Given the description of an element on the screen output the (x, y) to click on. 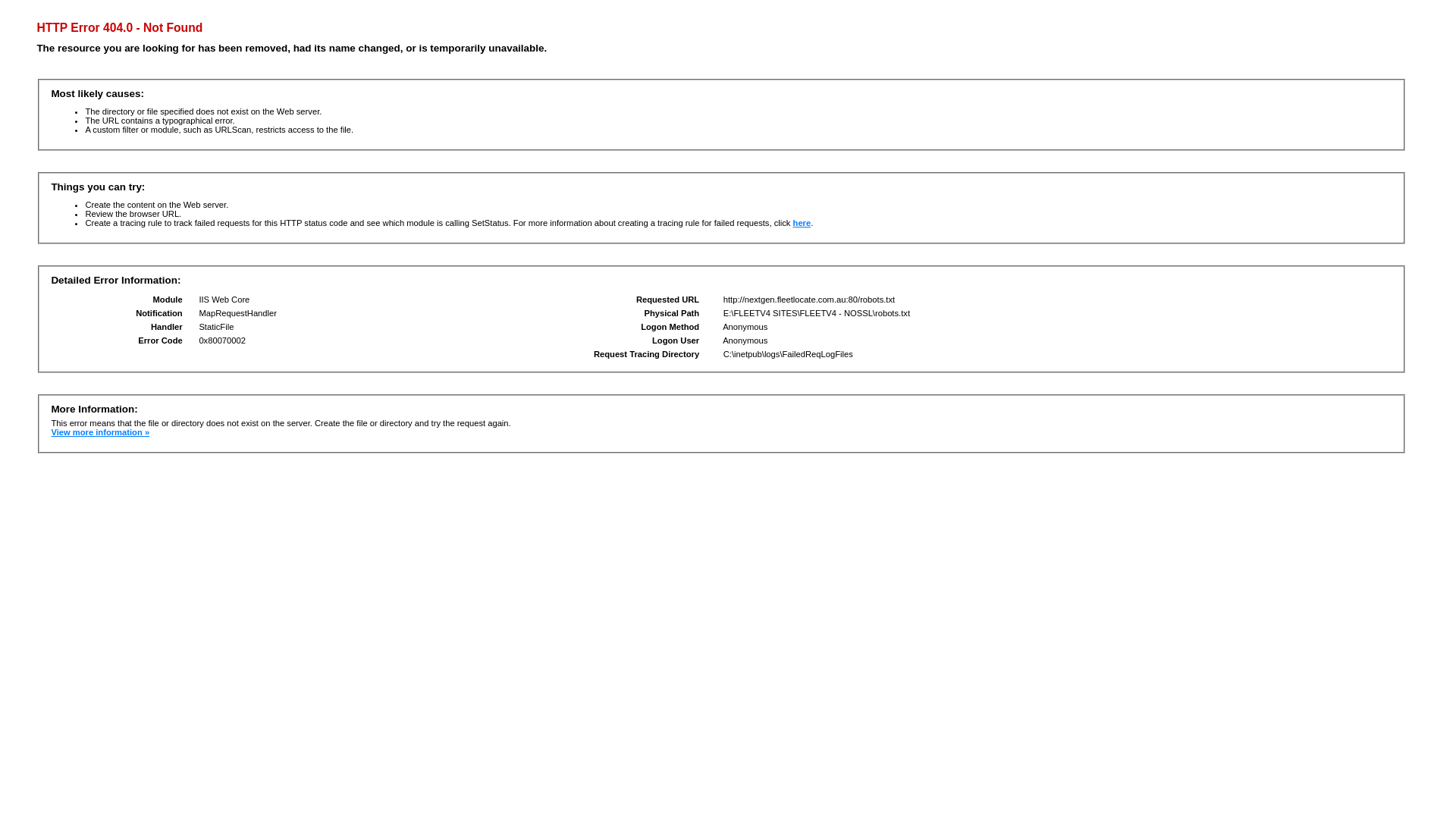
here Element type: text (802, 222)
